Given the description of an element on the screen output the (x, y) to click on. 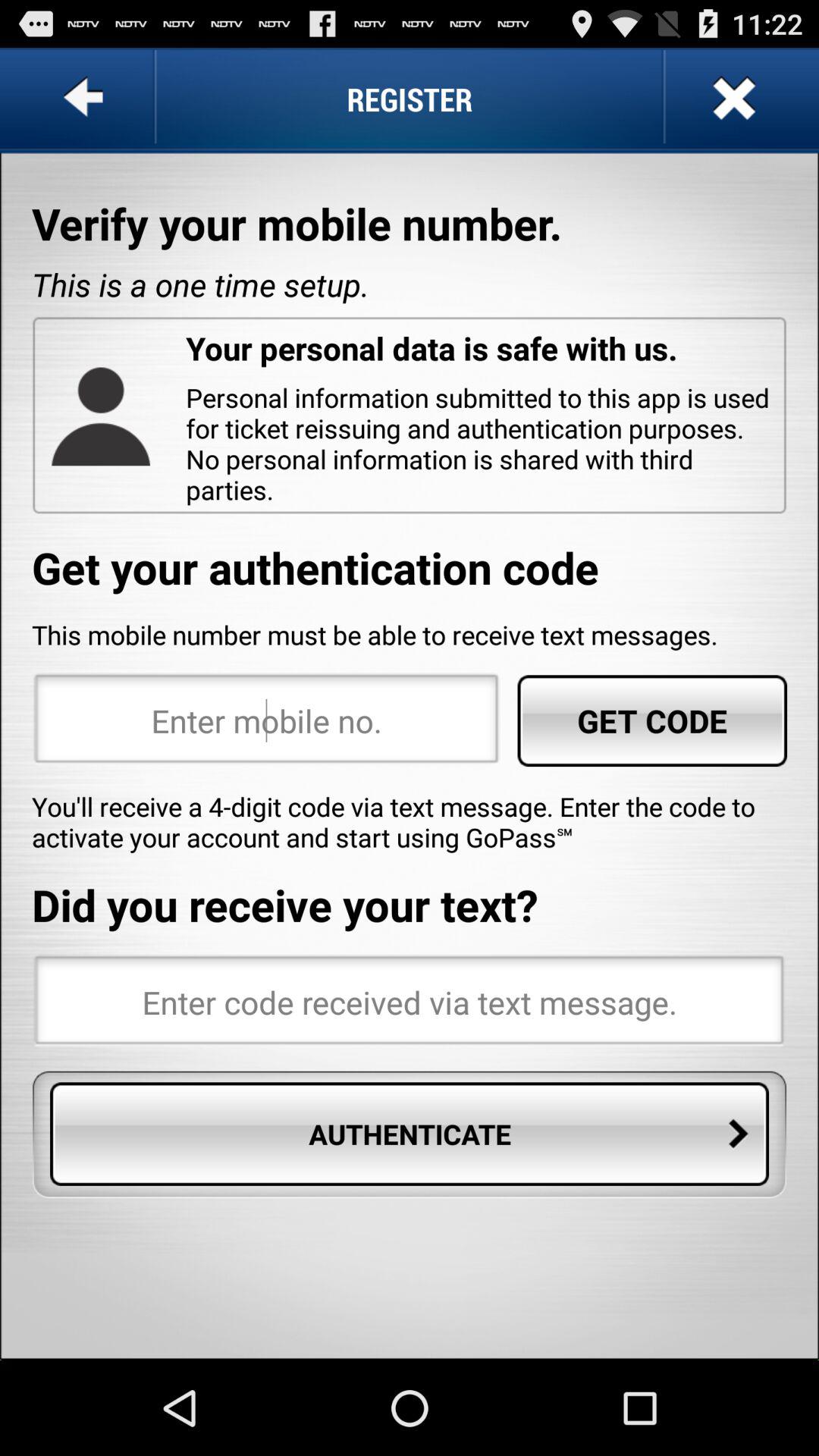
tap button at the top right corner (732, 99)
